Given the description of an element on the screen output the (x, y) to click on. 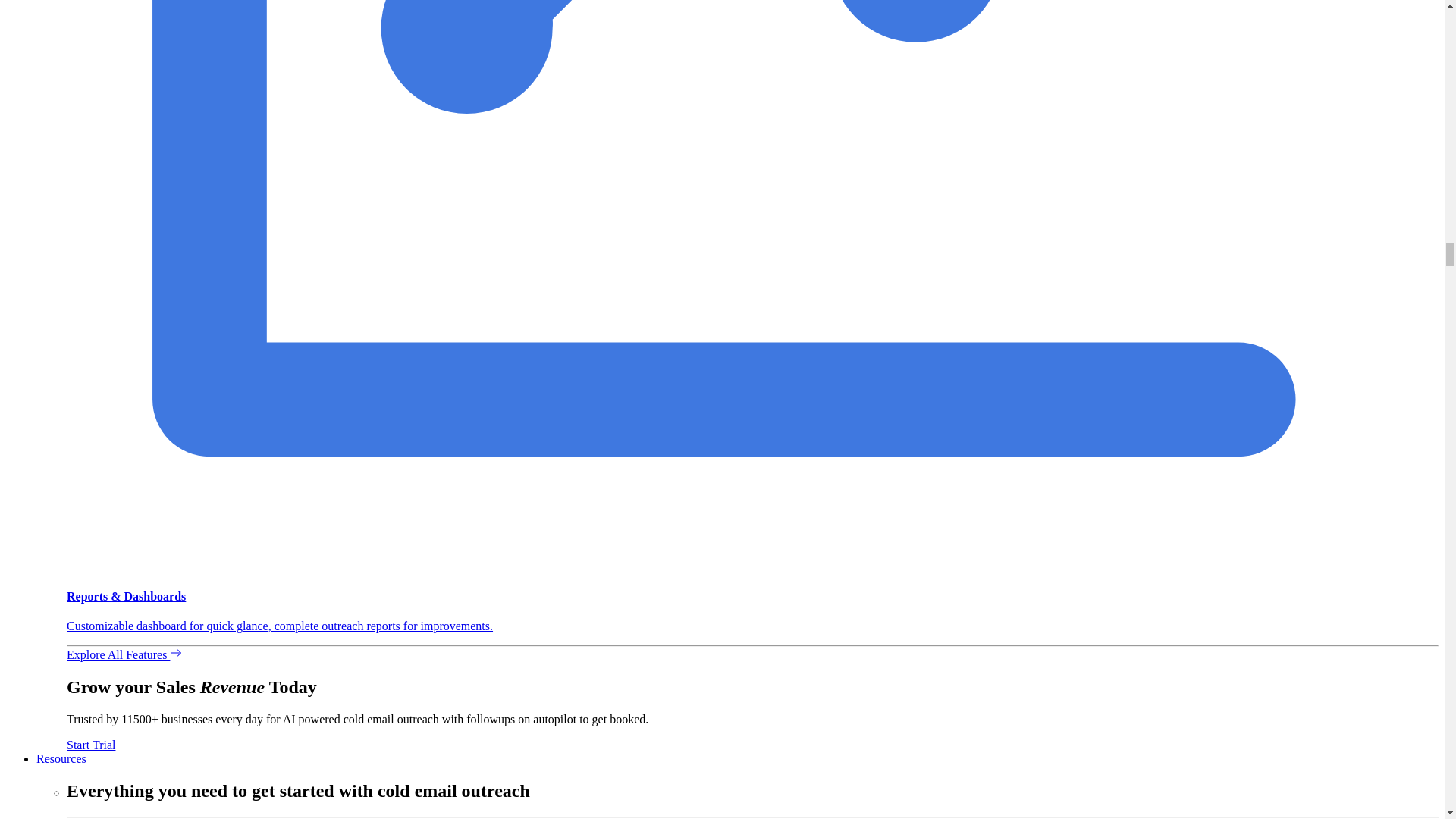
Resources (60, 758)
Explore All Features (124, 654)
Start Trial (90, 744)
